Given the description of an element on the screen output the (x, y) to click on. 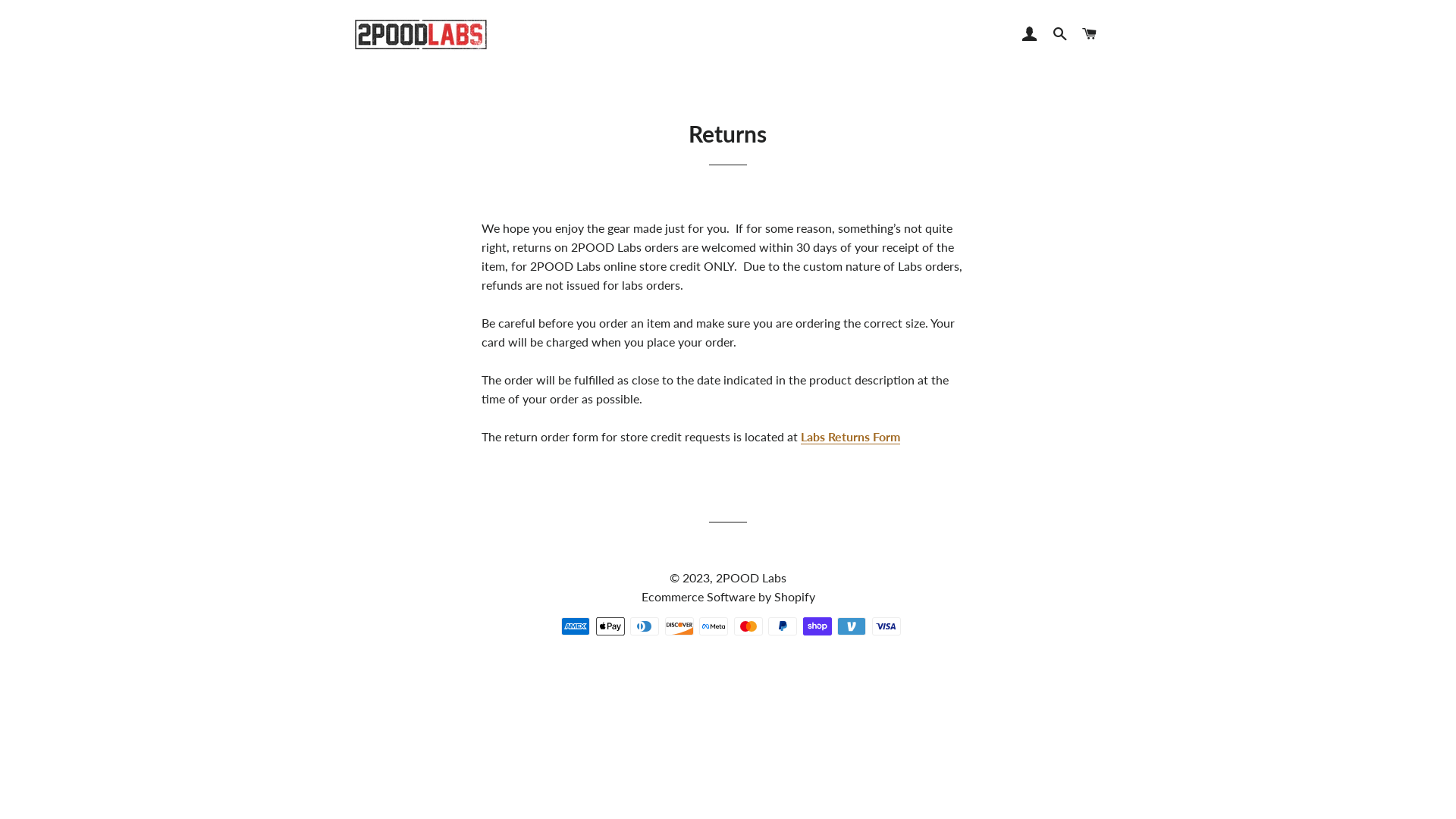
2POOD Labs Element type: text (750, 577)
CART Element type: text (1089, 33)
Labs Returns Form Element type: text (850, 436)
Ecommerce Software by Shopify Element type: text (728, 596)
LOG IN Element type: text (1029, 33)
SEARCH Element type: text (1059, 33)
